Given the description of an element on the screen output the (x, y) to click on. 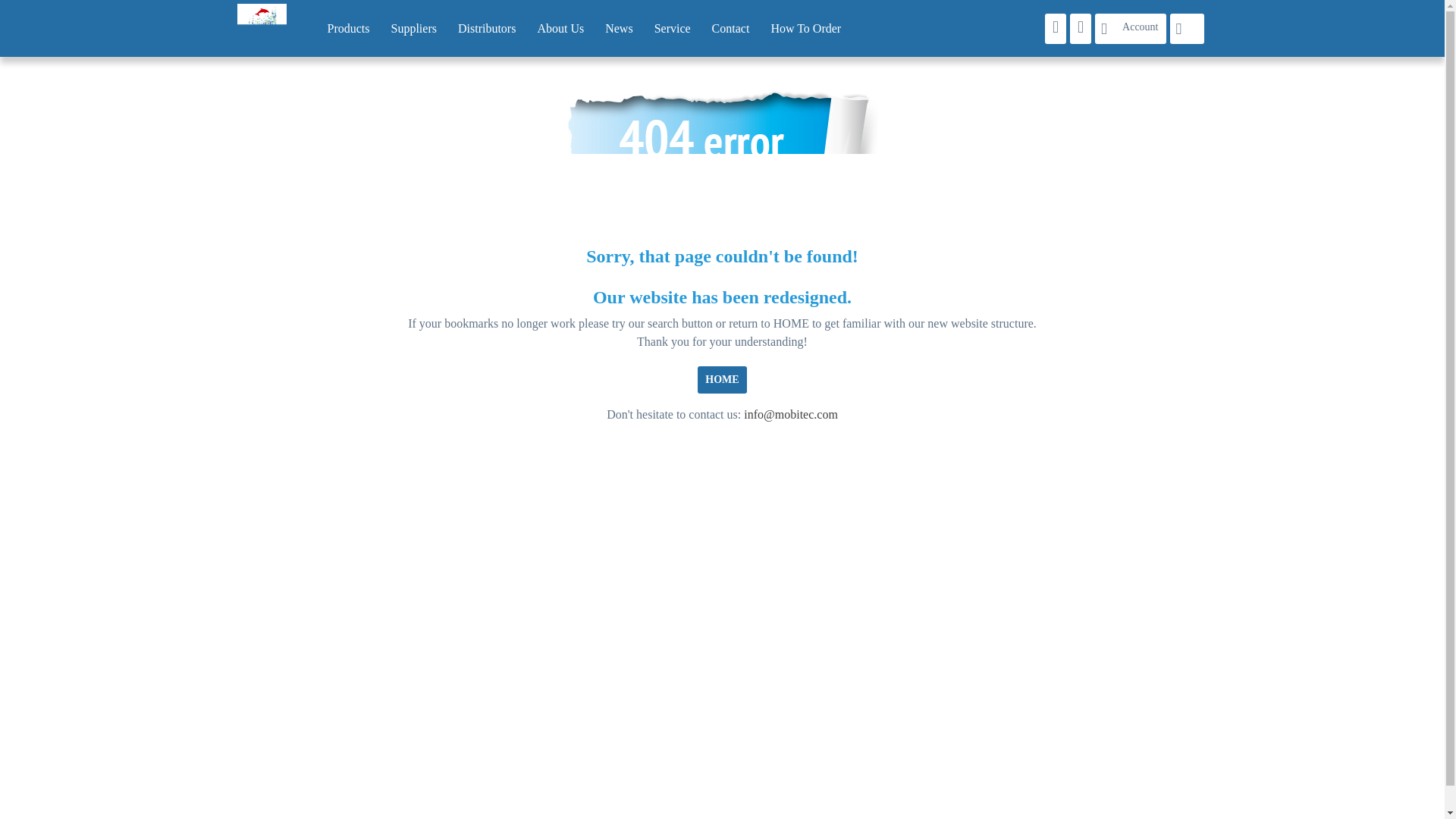
Suppliers (413, 27)
Suppliers (413, 27)
Products (348, 27)
Distributors (485, 27)
Products (348, 27)
About Us (559, 27)
MoBiTec Molecular Biotechnology - Switch to homepage (255, 18)
News (618, 27)
Service (672, 27)
